Given the description of an element on the screen output the (x, y) to click on. 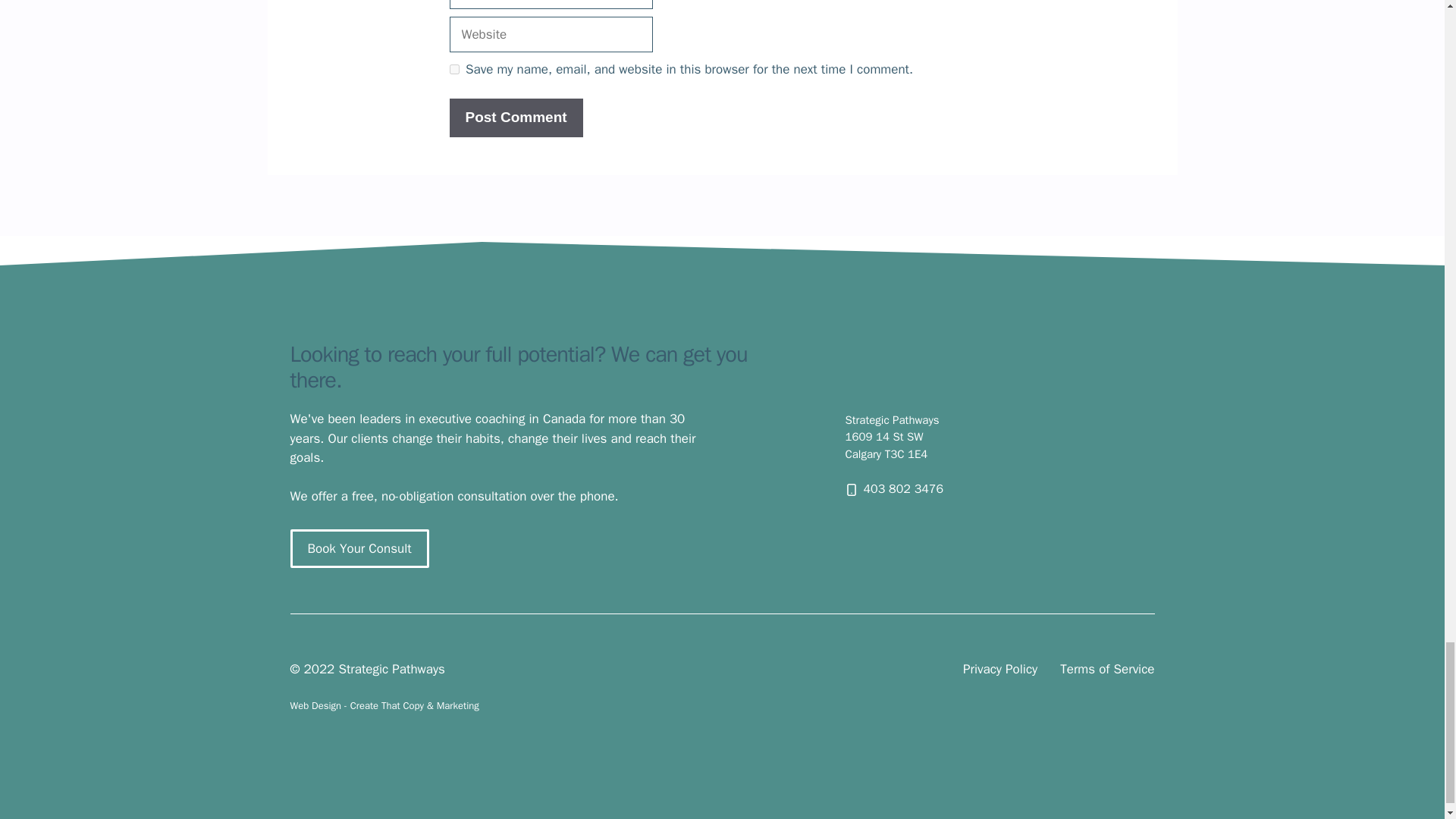
403 802 347 (899, 488)
yes (453, 69)
403 802 3477 (899, 488)
Terms of Service (1106, 669)
Book Your Consult (358, 548)
Post Comment (515, 117)
Post Comment (515, 117)
Privacy Policy (999, 669)
